Given the description of an element on the screen output the (x, y) to click on. 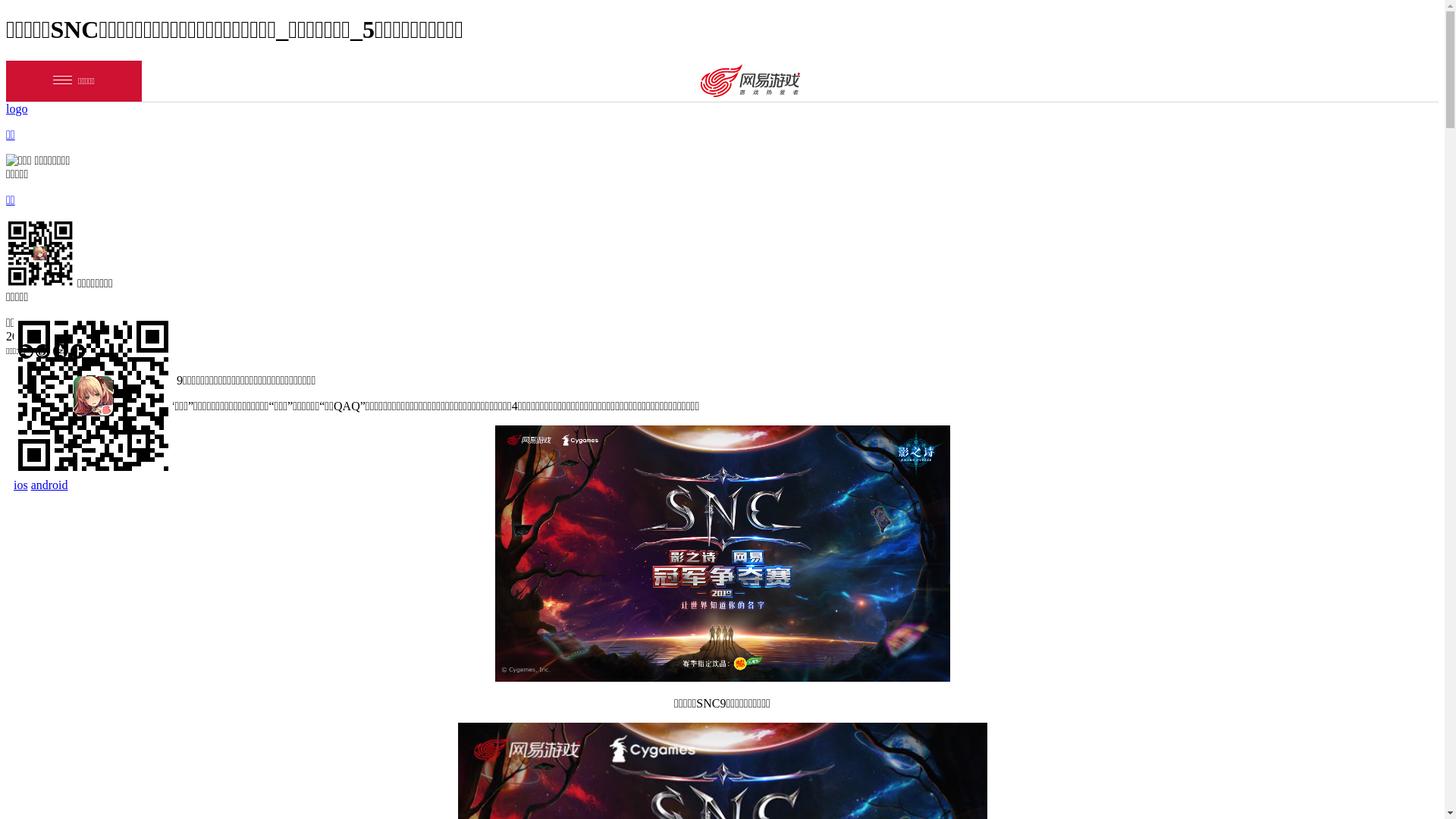
ios Element type: text (20, 484)
logo Element type: text (16, 108)
android Element type: text (49, 484)
